Given the description of an element on the screen output the (x, y) to click on. 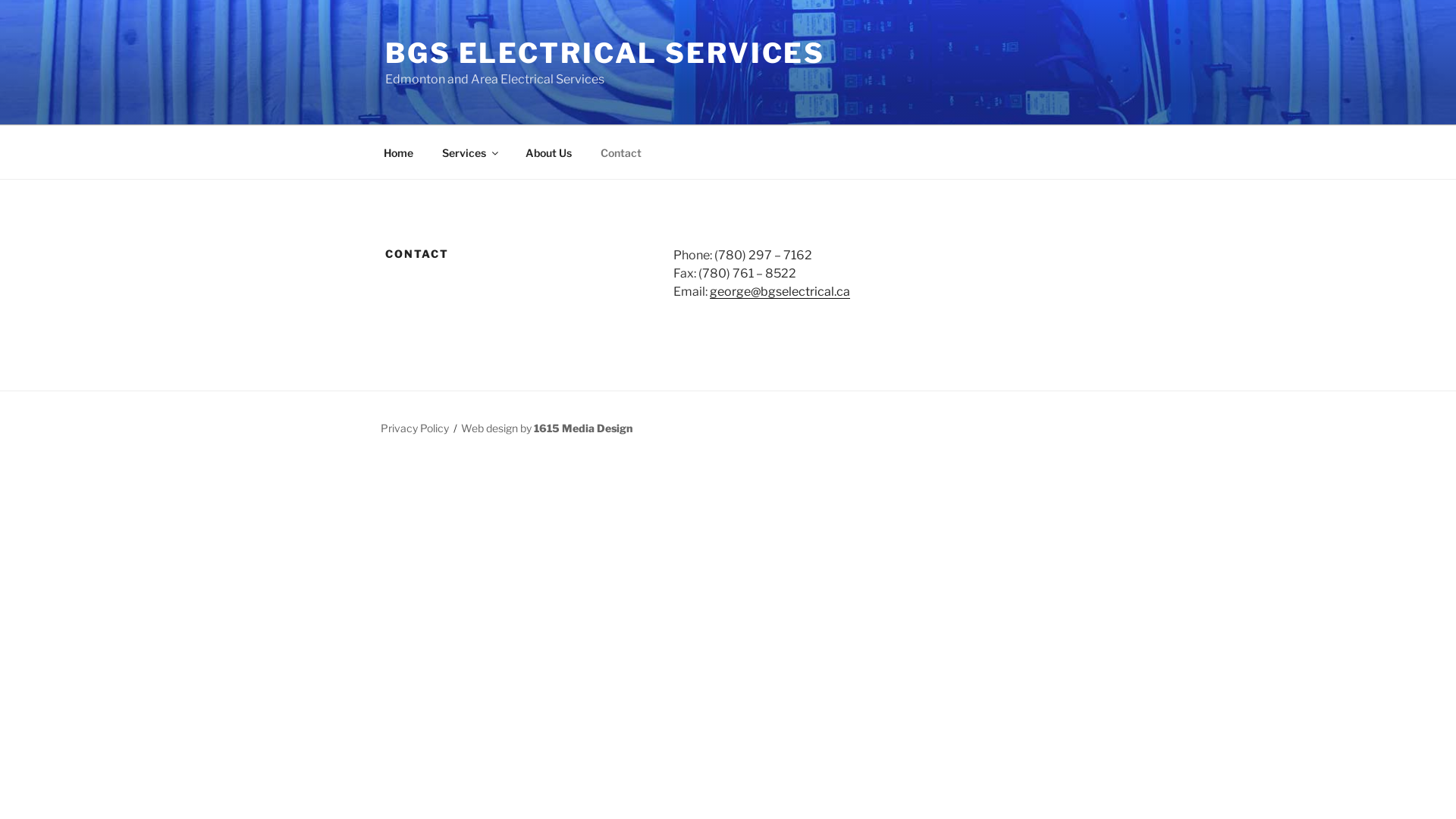
Skip to content Element type: text (0, 0)
Privacy Policy Element type: text (414, 427)
Home Element type: text (398, 151)
About Us Element type: text (547, 151)
george@bgselectrical.ca Element type: text (779, 291)
Services Element type: text (468, 151)
Contact Element type: text (620, 151)
Web design by 1615 Media Design Element type: text (546, 427)
BGS ELECTRICAL SERVICES Element type: text (605, 52)
